Given the description of an element on the screen output the (x, y) to click on. 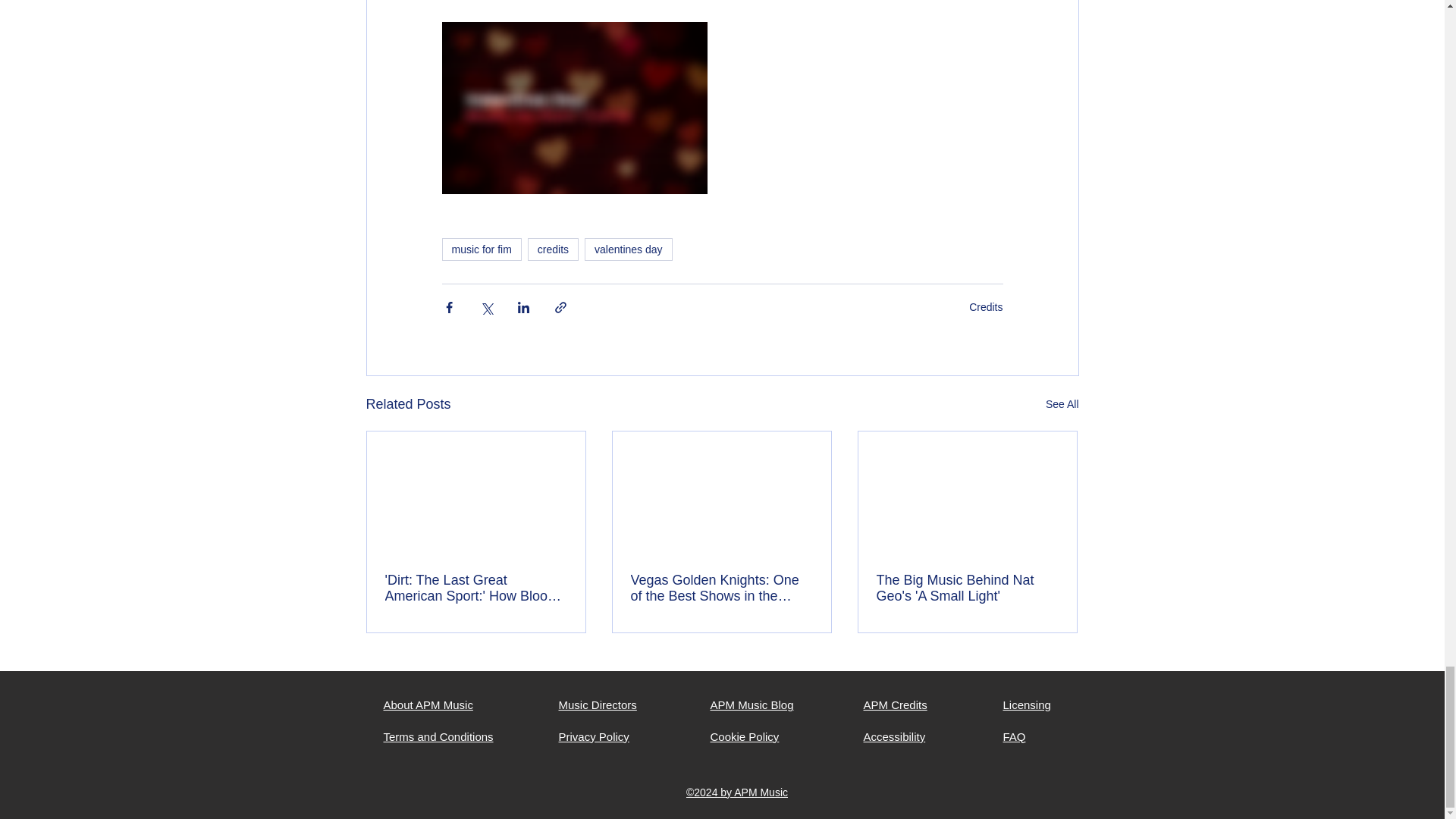
valentines day (628, 249)
credits (552, 249)
music for fim (481, 249)
